Given the description of an element on the screen output the (x, y) to click on. 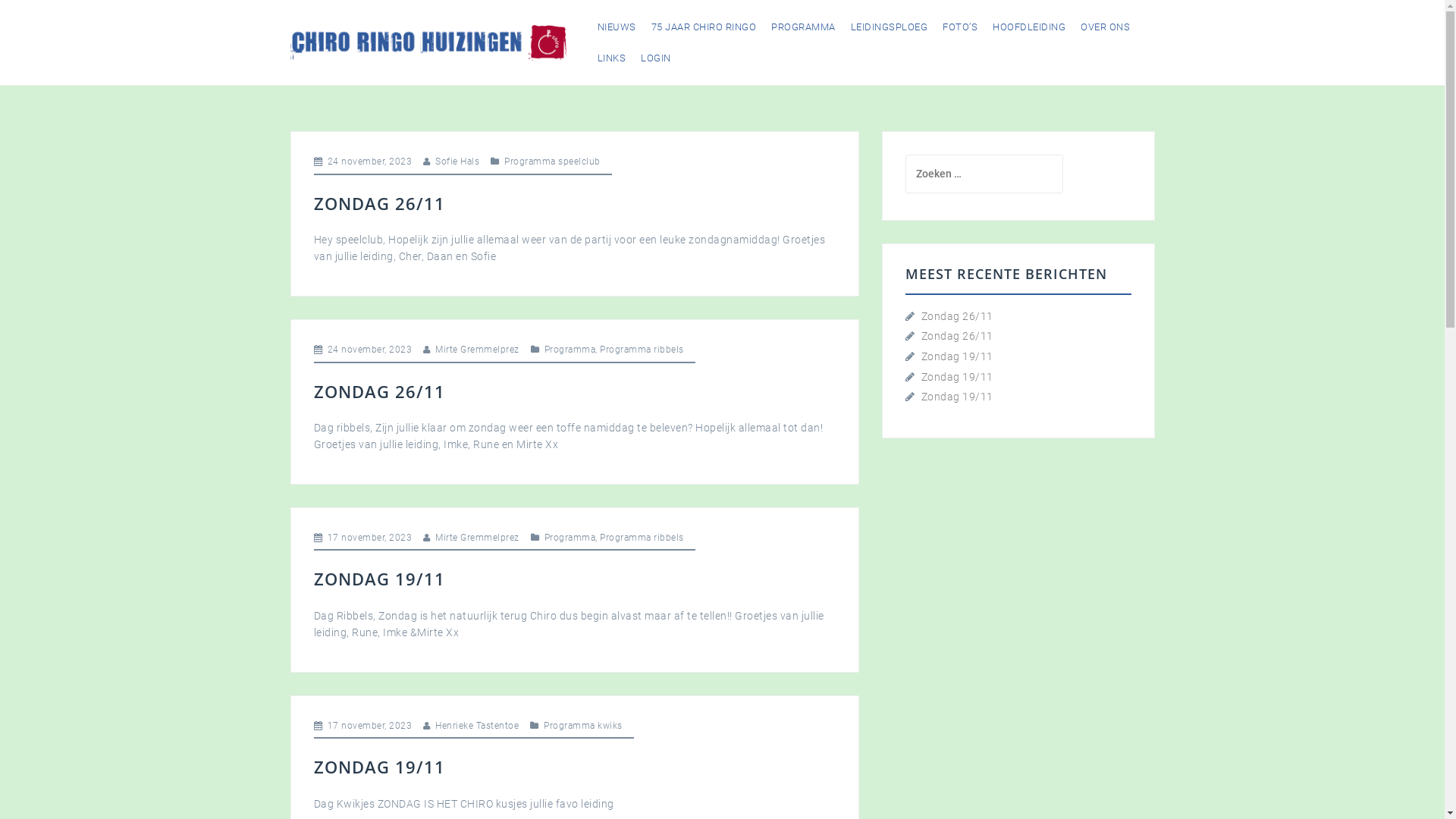
Zondag 19/11 Element type: text (956, 356)
17 november, 2023 Element type: text (369, 725)
ZONDAG 26/11 Element type: text (379, 202)
LOGIN Element type: text (655, 57)
ZONDAG 19/11 Element type: text (379, 578)
PROGRAMMA Element type: text (803, 26)
Programma ribbels Element type: text (641, 537)
LINKS Element type: text (611, 57)
LEIDINGSPLOEG Element type: text (889, 26)
Zondag 19/11 Element type: text (956, 396)
Skip to content Element type: text (0, 0)
Zondag 26/11 Element type: text (956, 335)
ZONDAG 26/11 Element type: text (379, 390)
Henrieke Tastentoe Element type: text (476, 725)
Zondag 19/11 Element type: text (956, 376)
Sofie Hals Element type: text (457, 161)
Programma Element type: text (570, 349)
Zondag 26/11 Element type: text (956, 316)
75 JAAR CHIRO RINGO Element type: text (703, 26)
24 november, 2023 Element type: text (369, 161)
Programma kwiks Element type: text (582, 725)
Mirte Gremmelprez Element type: text (477, 537)
ZONDAG 19/11 Element type: text (379, 766)
Programma ribbels Element type: text (641, 349)
NIEUWS Element type: text (616, 26)
Programma Element type: text (570, 537)
Zoeken Element type: text (41, 20)
17 november, 2023 Element type: text (369, 537)
Programma speelclub Element type: text (552, 161)
24 november, 2023 Element type: text (369, 349)
OVER ONS Element type: text (1104, 26)
Mirte Gremmelprez Element type: text (477, 349)
Chiro Ringo Huizingen Element type: hover (427, 41)
HOOFDLEIDING Element type: text (1028, 26)
